Given the description of an element on the screen output the (x, y) to click on. 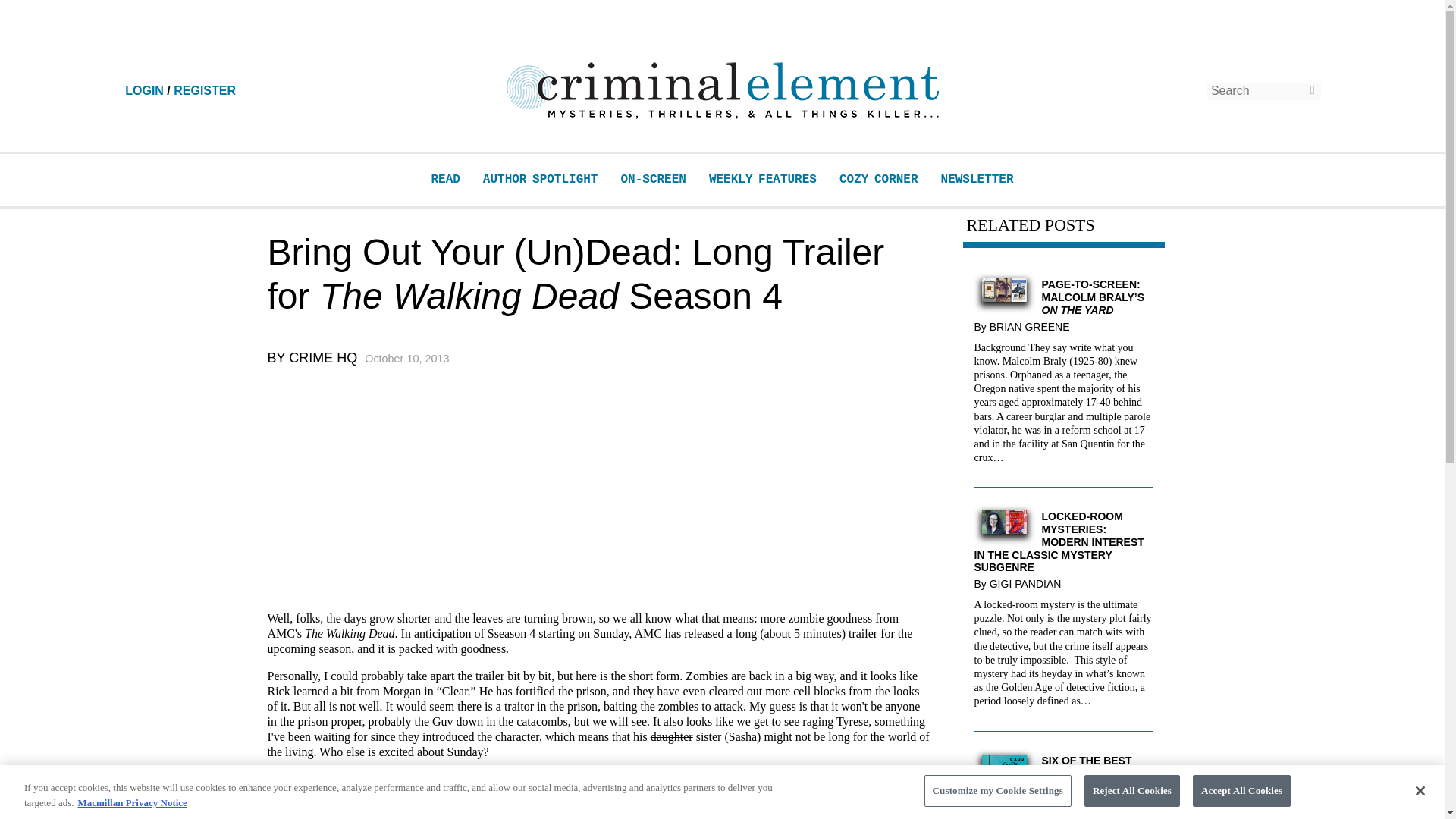
Megan Goldin (1069, 807)
NEWSLETTER (976, 179)
Brian Greene (1033, 326)
ON-SCREEN (652, 179)
CRIME HQ (322, 357)
GIGI PANDIAN (1029, 583)
REGISTER (204, 90)
Crime HQ (322, 357)
Six of the Best Classic Locked-Room Mysteries (1003, 783)
